Given the description of an element on the screen output the (x, y) to click on. 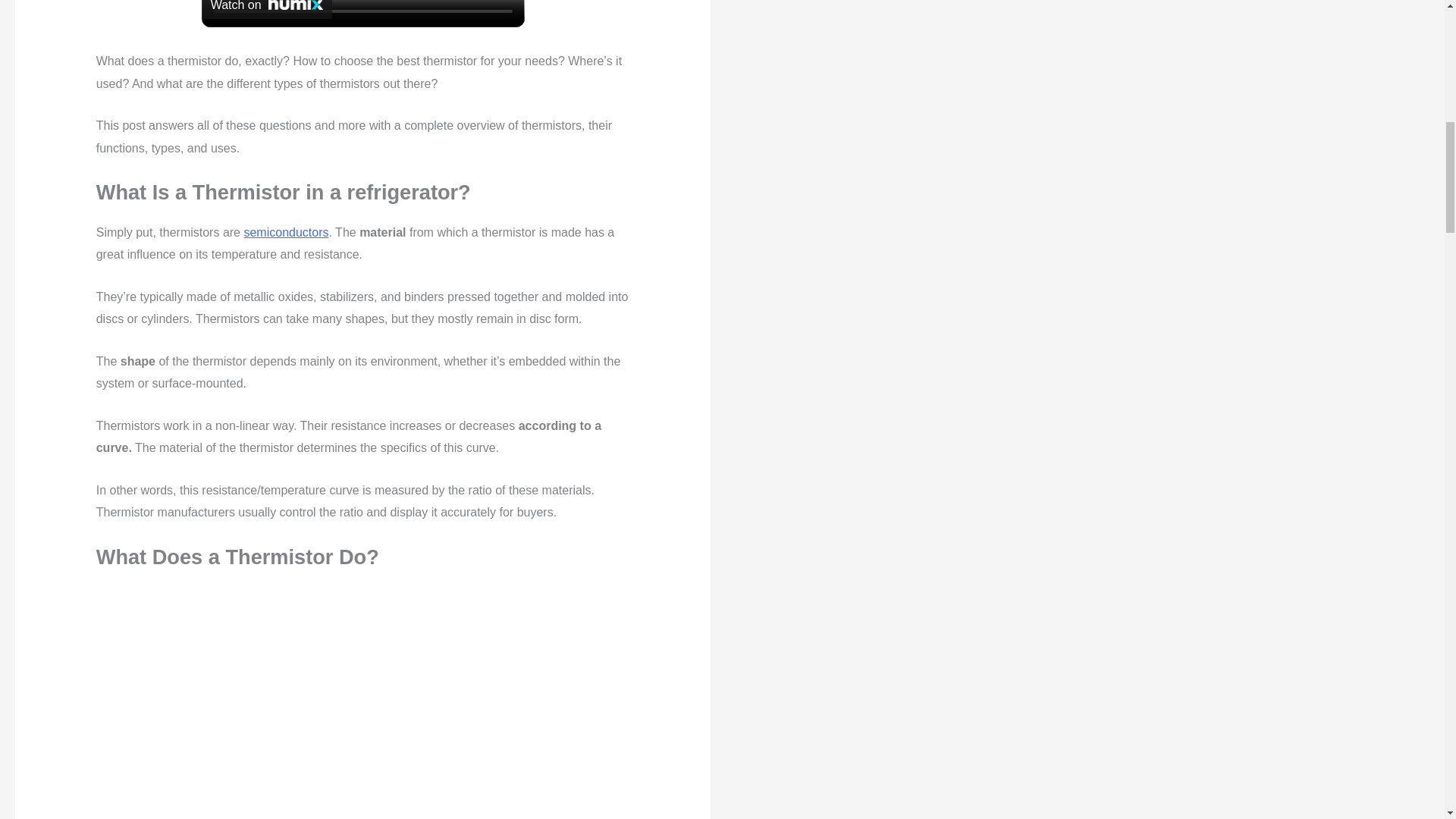
semiconductors (286, 232)
Watch on (266, 9)
How Thermistors Work - The Learning Circuit (363, 702)
